Given the description of an element on the screen output the (x, y) to click on. 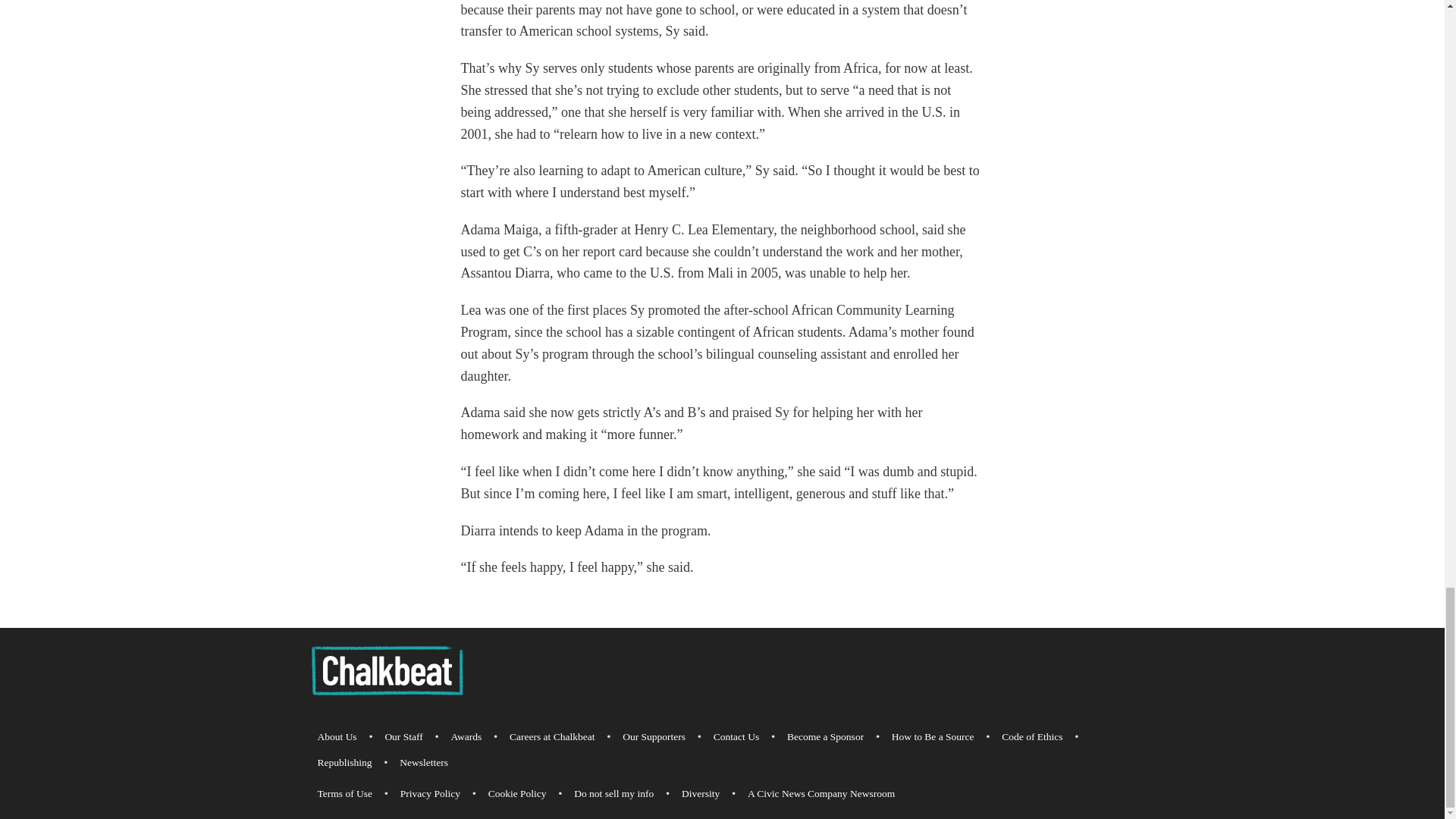
Become a Sponsor (824, 736)
Republishing (344, 762)
Diversity (700, 793)
Do not sell my info (613, 793)
Our Staff (403, 736)
Careers at Chalkbeat (551, 736)
Our Supporters (653, 736)
Awards (465, 736)
Contact Us (736, 736)
How to Be a Source (932, 736)
A Civic News Company Newsroom (821, 793)
Cookie Policy (517, 793)
Newsletters (423, 762)
Privacy Policy (429, 793)
Code of Ethics (1031, 736)
